Given the description of an element on the screen output the (x, y) to click on. 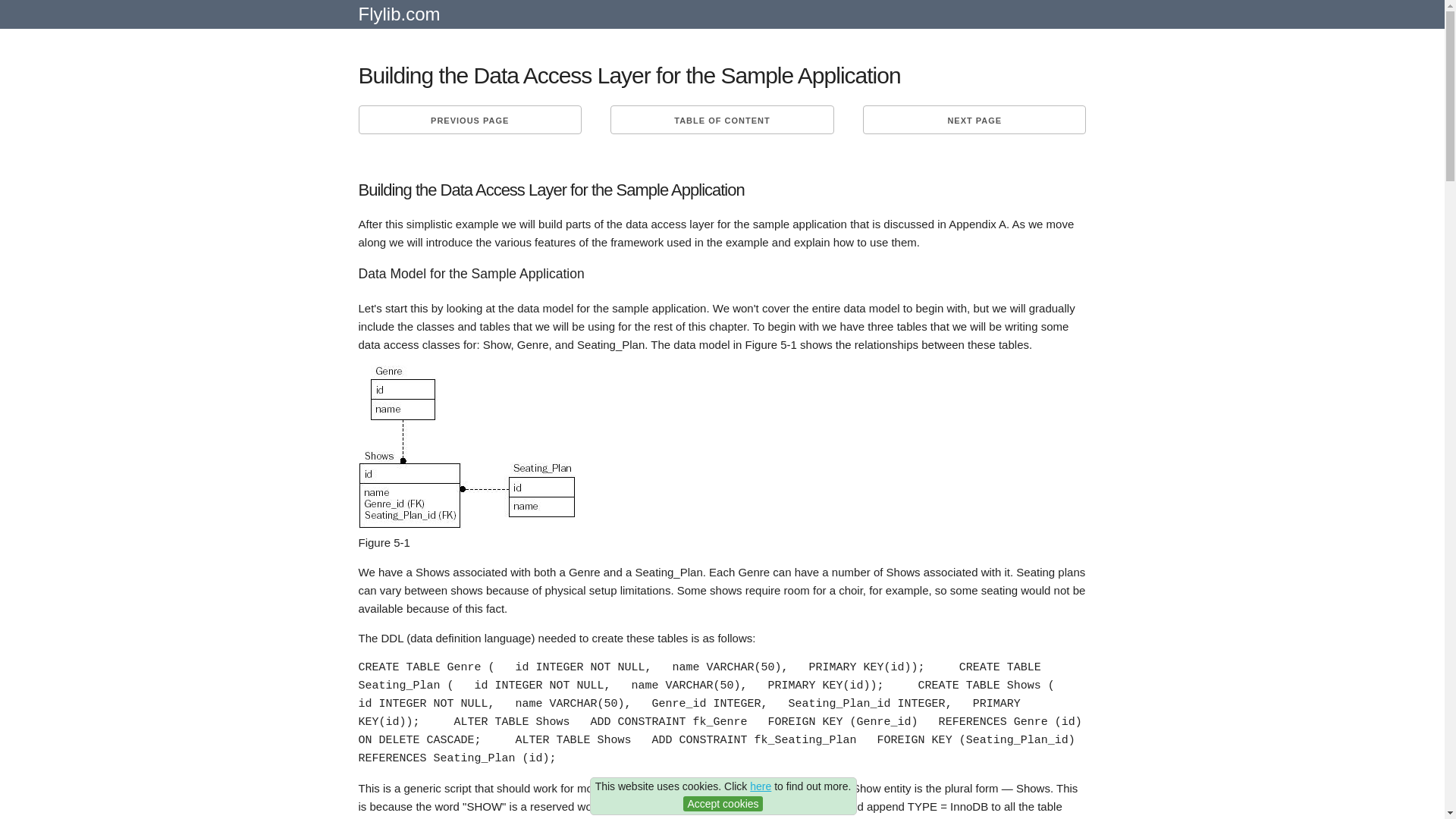
TABLE OF CONTENT (721, 119)
NEXT PAGE (974, 119)
Flylib.com (398, 19)
PREVIOUS PAGE (469, 119)
